Given the description of an element on the screen output the (x, y) to click on. 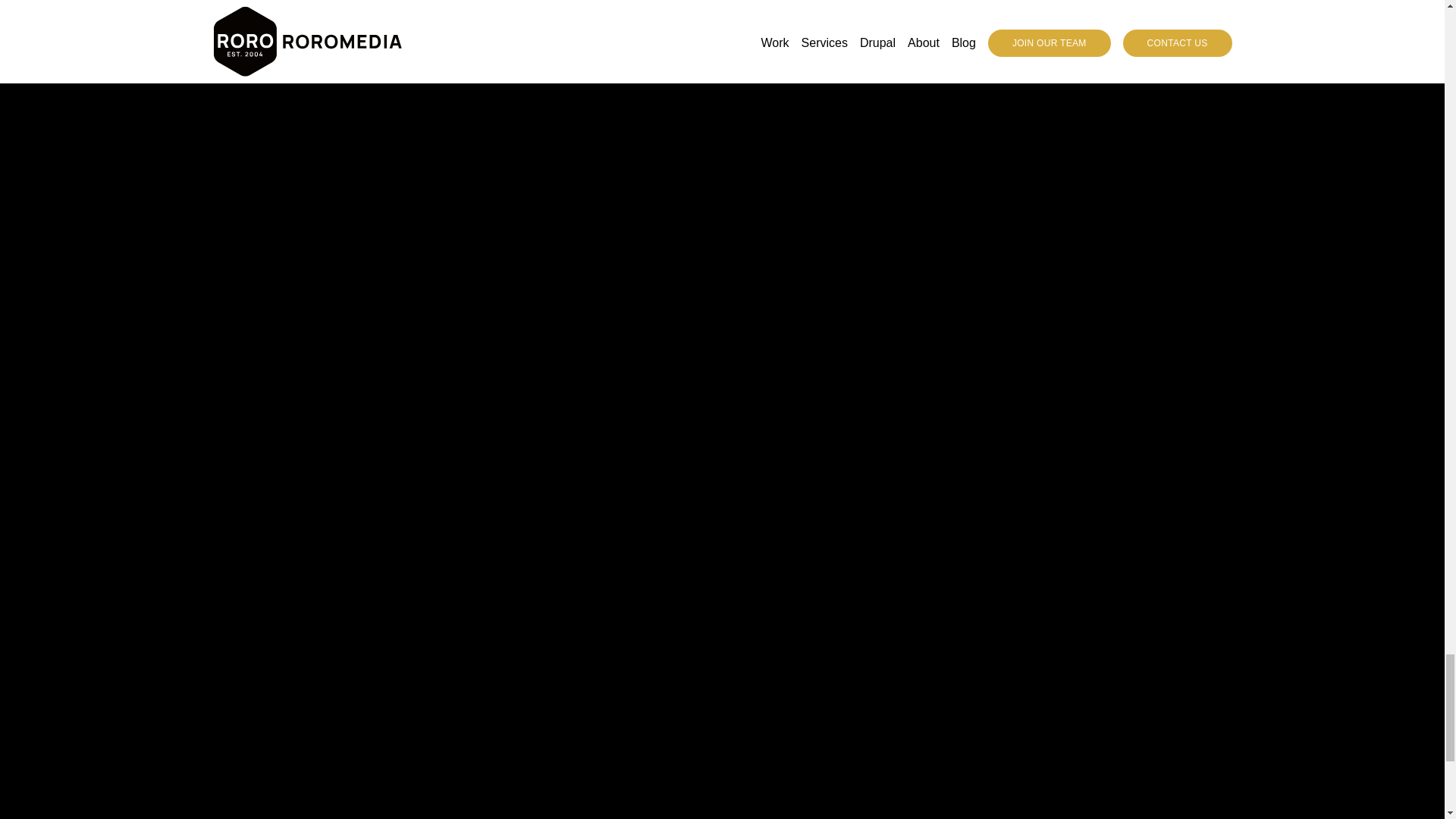
DESIGN (844, 299)
BRANDING (770, 299)
PROCESS OPTIMISATION (355, 299)
TU Wien (245, 328)
WEB-DEVELOPMENT (490, 299)
DESIGN (248, 299)
Re-Branding Glatztechnik GmbH (840, 328)
